Given the description of an element on the screen output the (x, y) to click on. 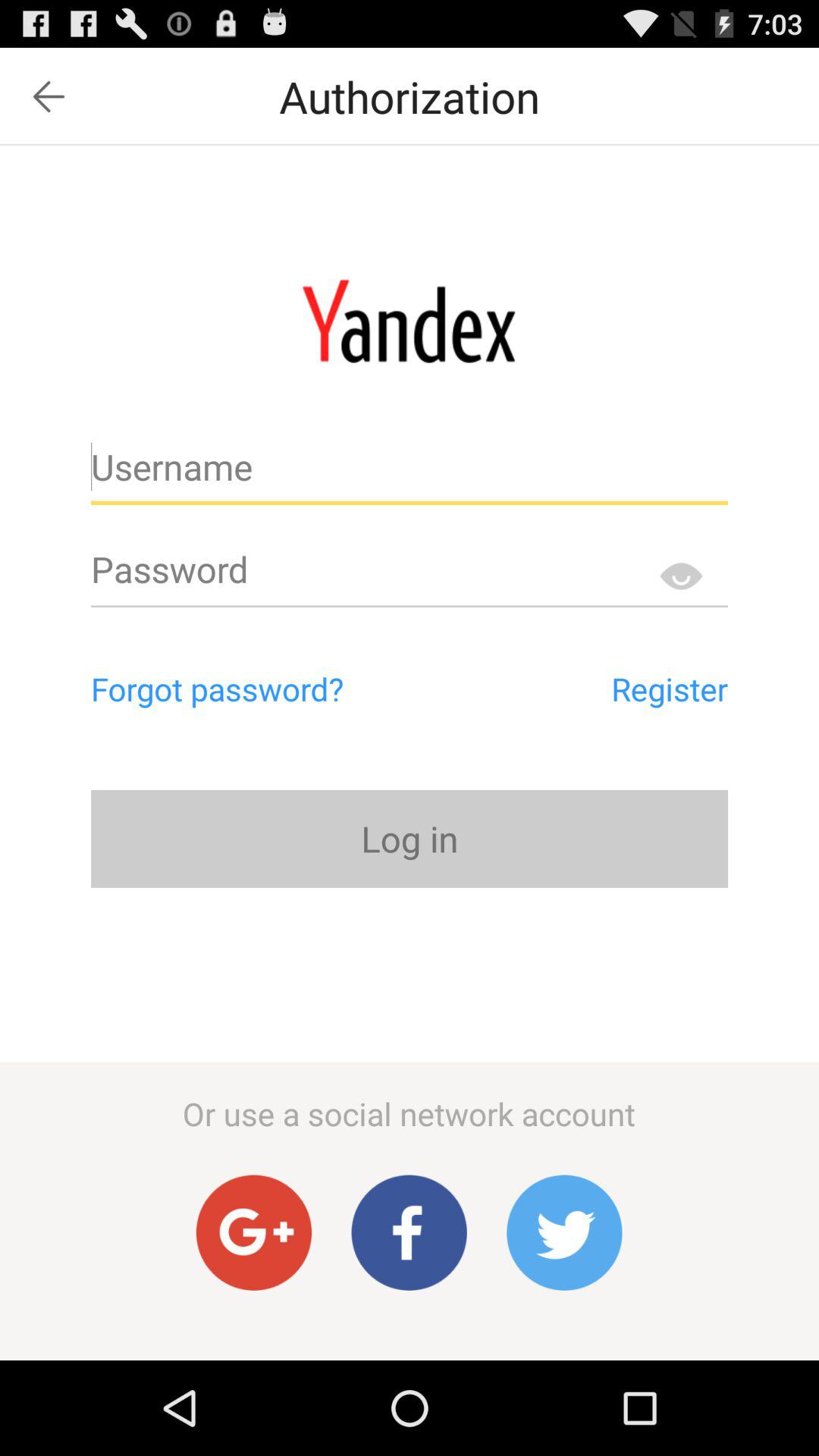
turn on the item next to forgot password? app (600, 688)
